Given the description of an element on the screen output the (x, y) to click on. 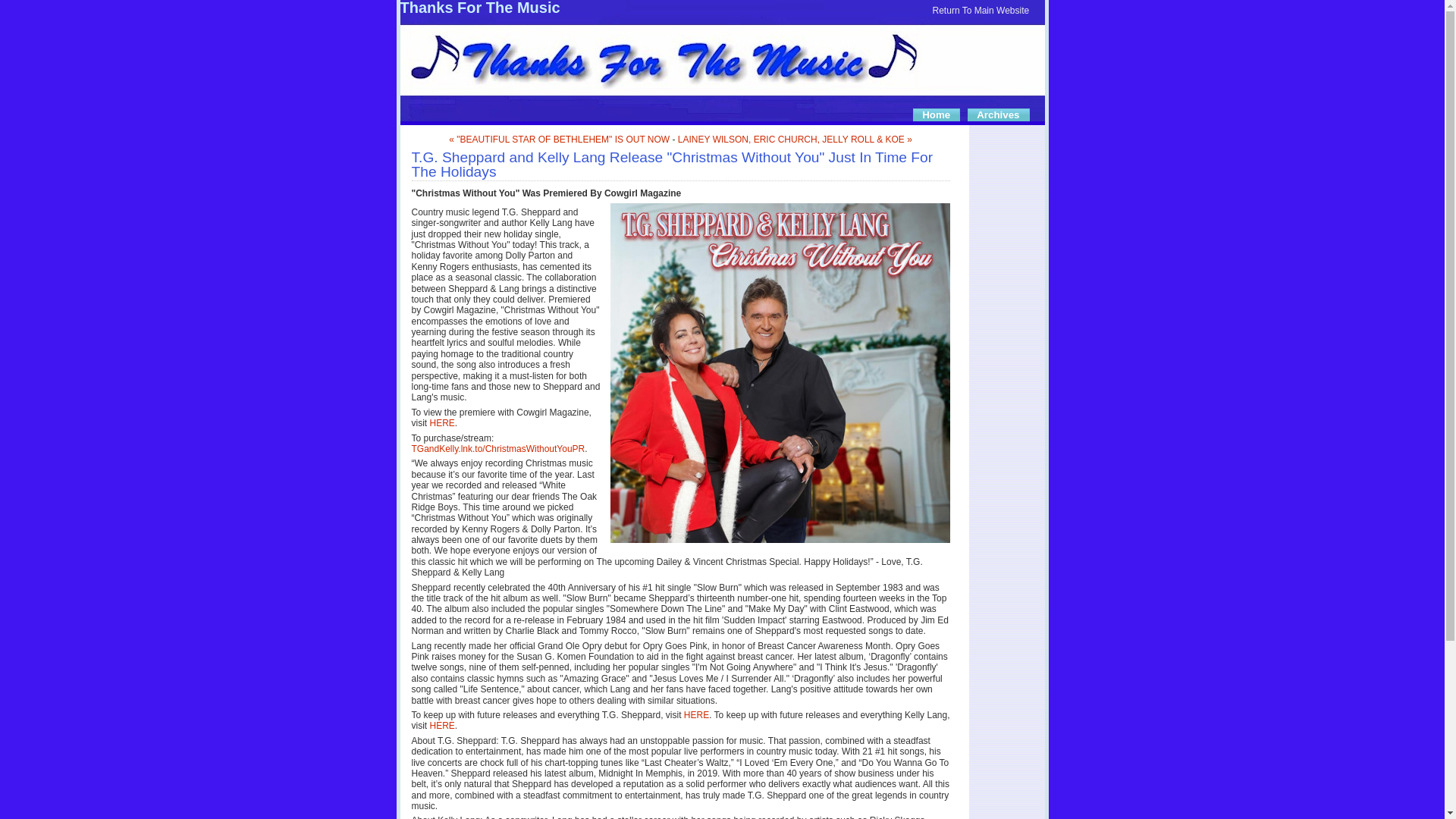
Thanks For The Music (480, 7)
Home - Recent posts (938, 114)
"BEAUTIFUL STAR OF BETHLEHEM" IS OUT NOW (558, 139)
Return To Main Website (981, 9)
HERE (696, 715)
HERE (441, 422)
Home (938, 114)
Archives (999, 114)
HERE (441, 725)
